Given the description of an element on the screen output the (x, y) to click on. 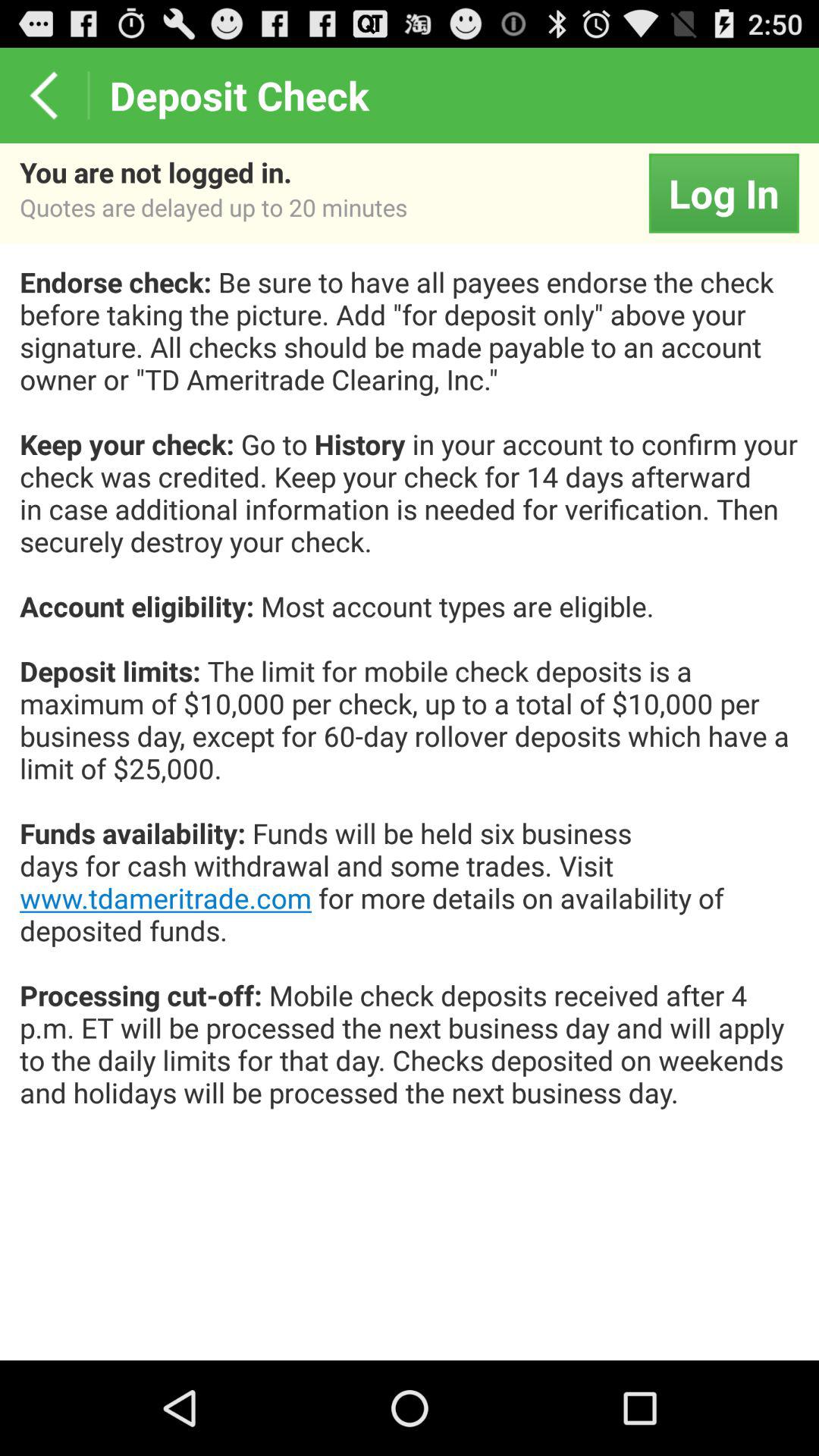
select the item above the endorse check be app (723, 193)
